Given the description of an element on the screen output the (x, y) to click on. 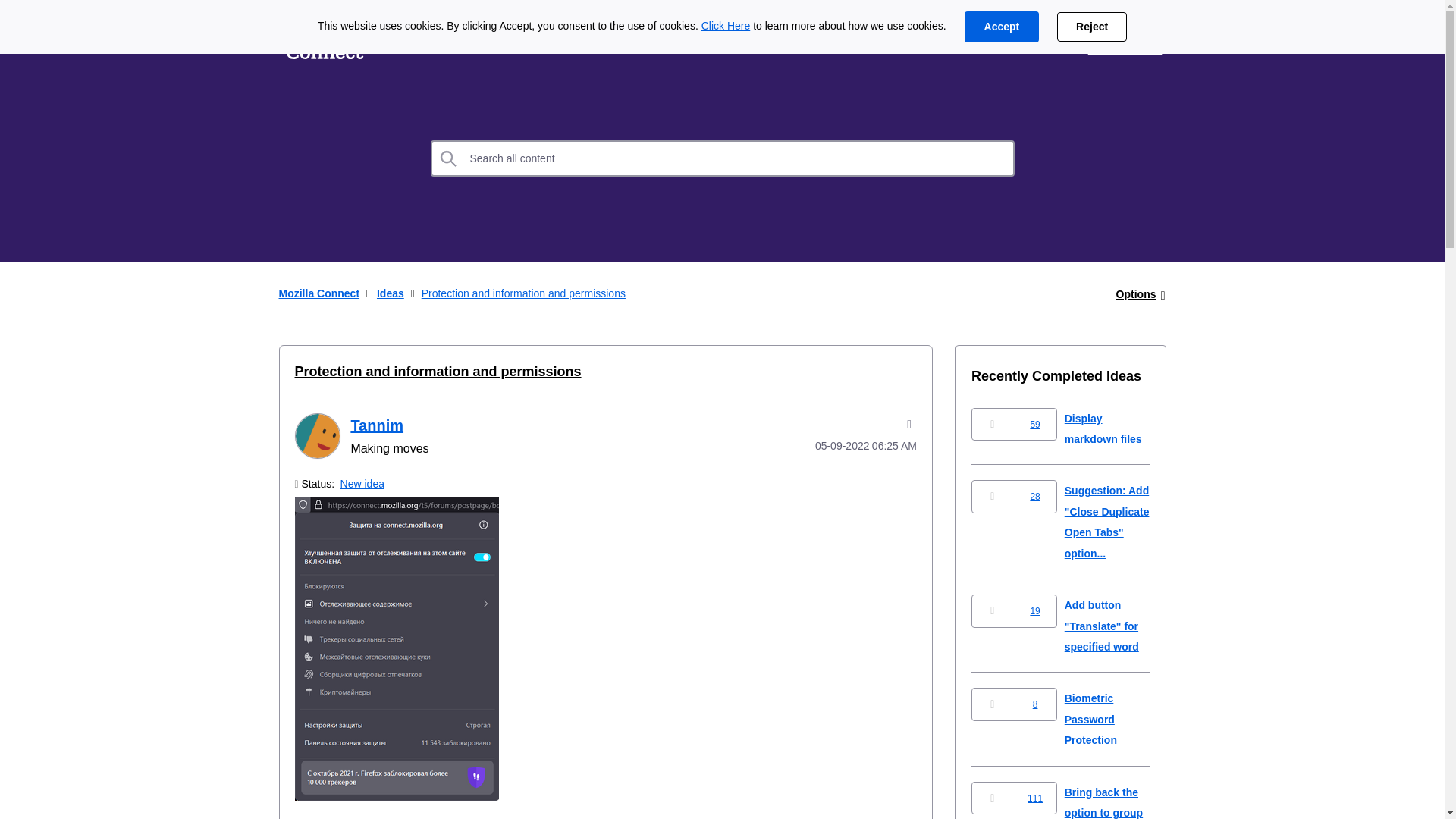
Search (448, 158)
Options (1136, 294)
Click Here (726, 25)
Reject (1091, 26)
Accept (1001, 26)
Ideas (411, 39)
Search (722, 158)
Sign In (1124, 39)
Community (607, 39)
Posted on (845, 445)
Mozilla Connect (319, 293)
Support (1040, 39)
Search (448, 158)
Protection and information and permissions (437, 371)
Ideas (390, 293)
